Given the description of an element on the screen output the (x, y) to click on. 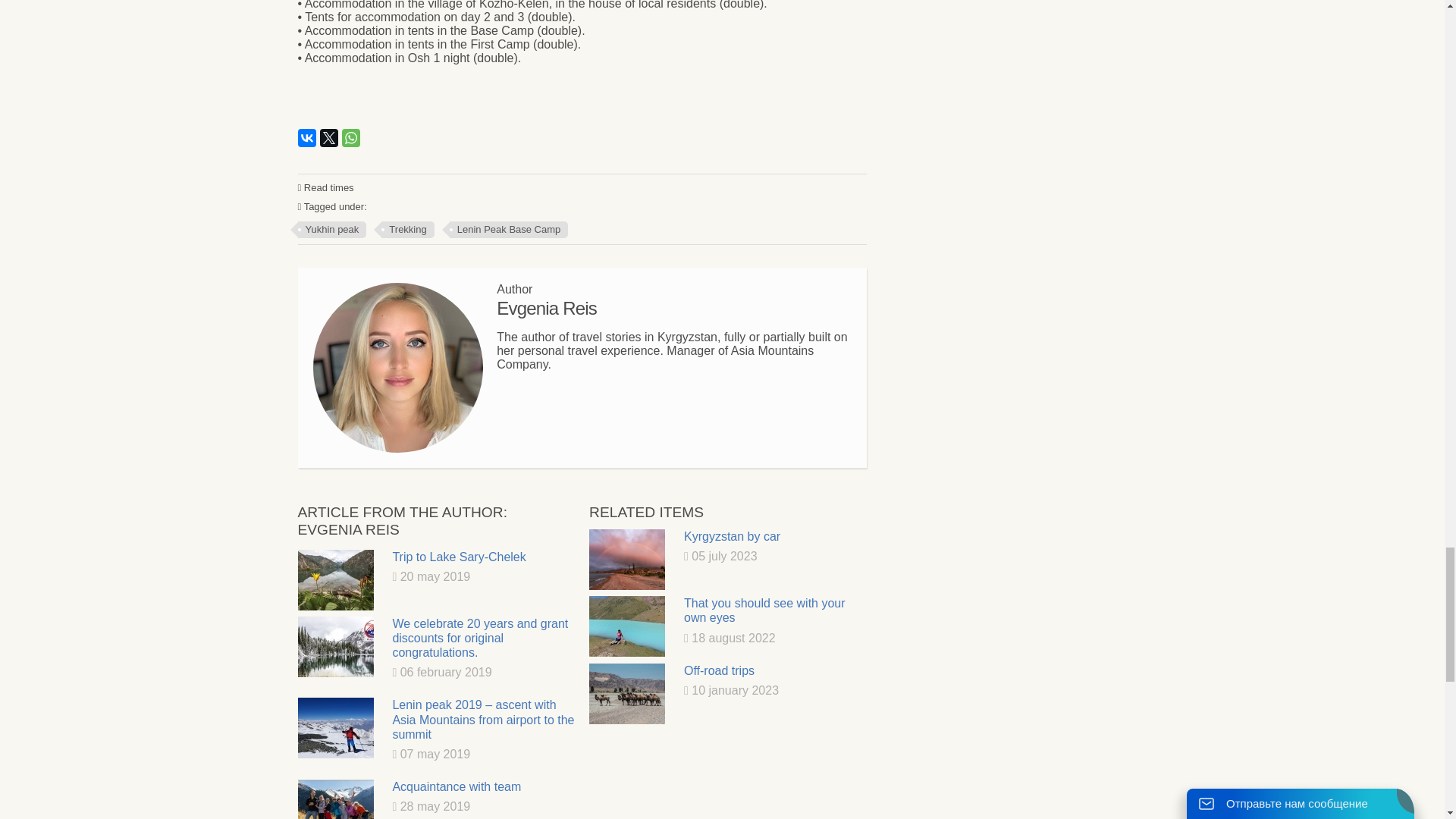
Acquaintance with team (334, 799)
Twitter (328, 137)
WhatsApp (349, 137)
Trip to Lake Sary-Chelek (334, 579)
